Given the description of an element on the screen output the (x, y) to click on. 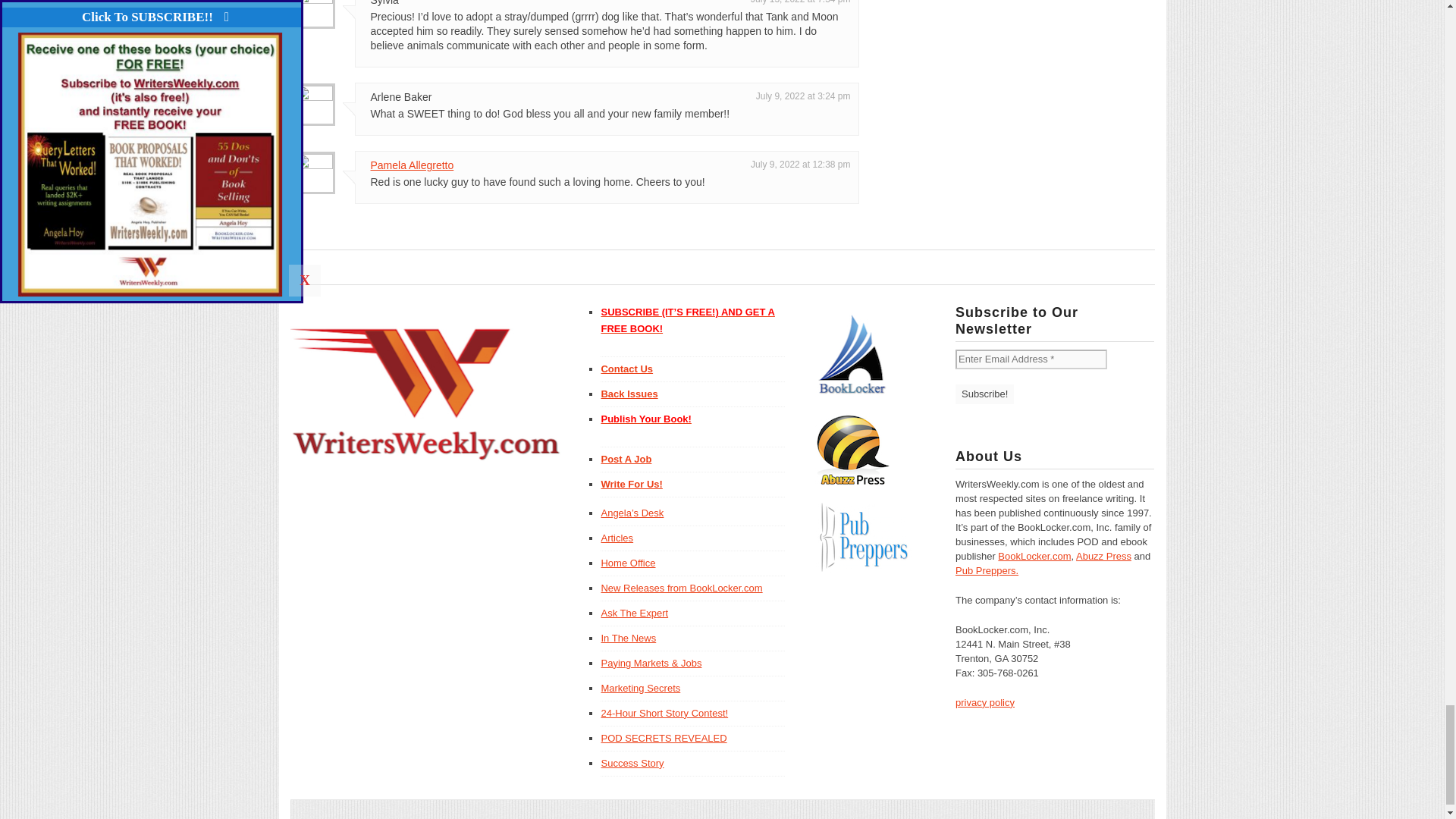
Enter Email Address (1030, 359)
Subscribe! (984, 394)
